Given the description of an element on the screen output the (x, y) to click on. 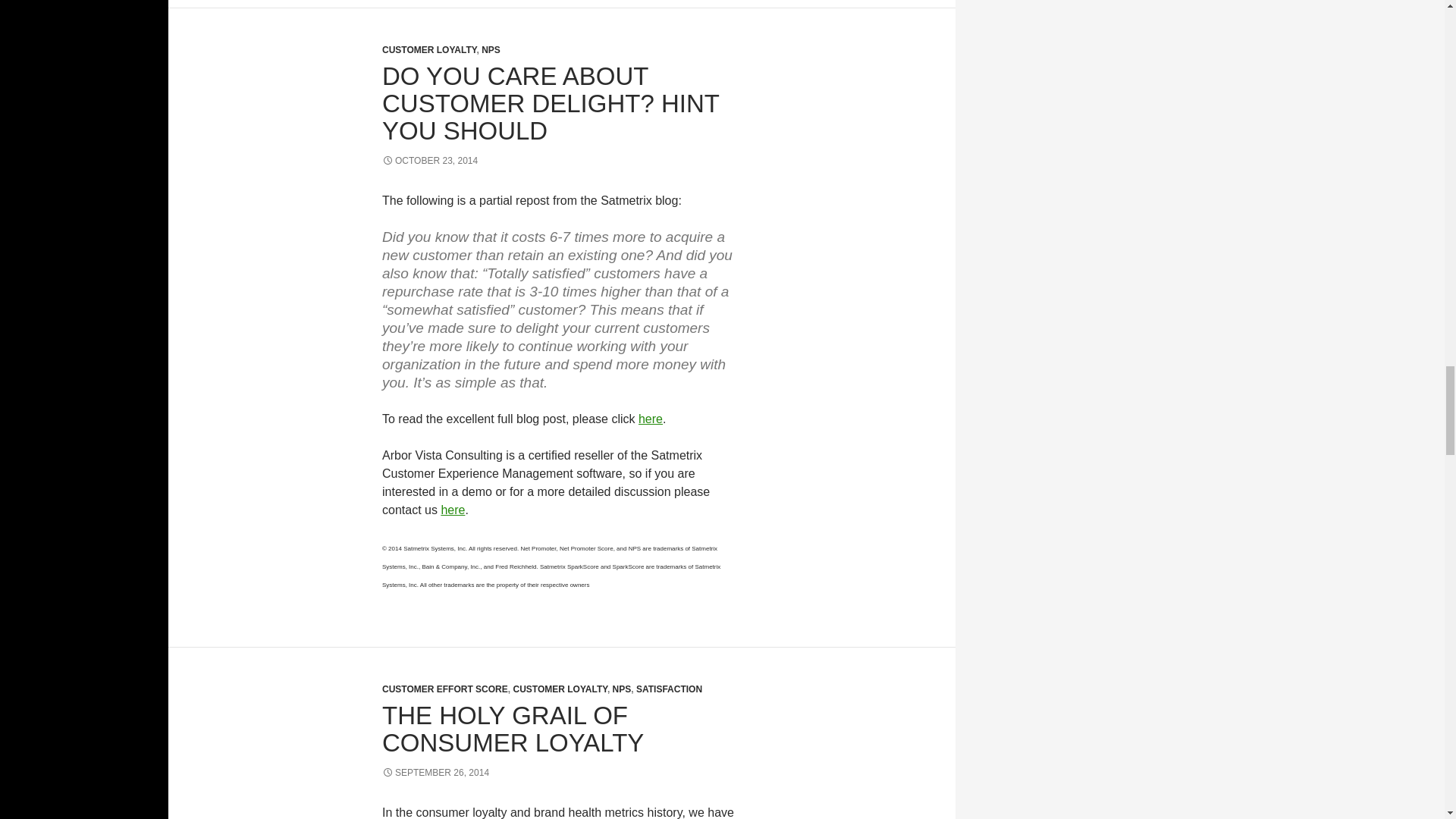
DO YOU CARE ABOUT CUSTOMER DELIGHT? HINT YOU SHOULD (550, 103)
CUSTOMER LOYALTY (428, 50)
NPS (490, 50)
OCTOBER 23, 2014 (429, 160)
